Given the description of an element on the screen output the (x, y) to click on. 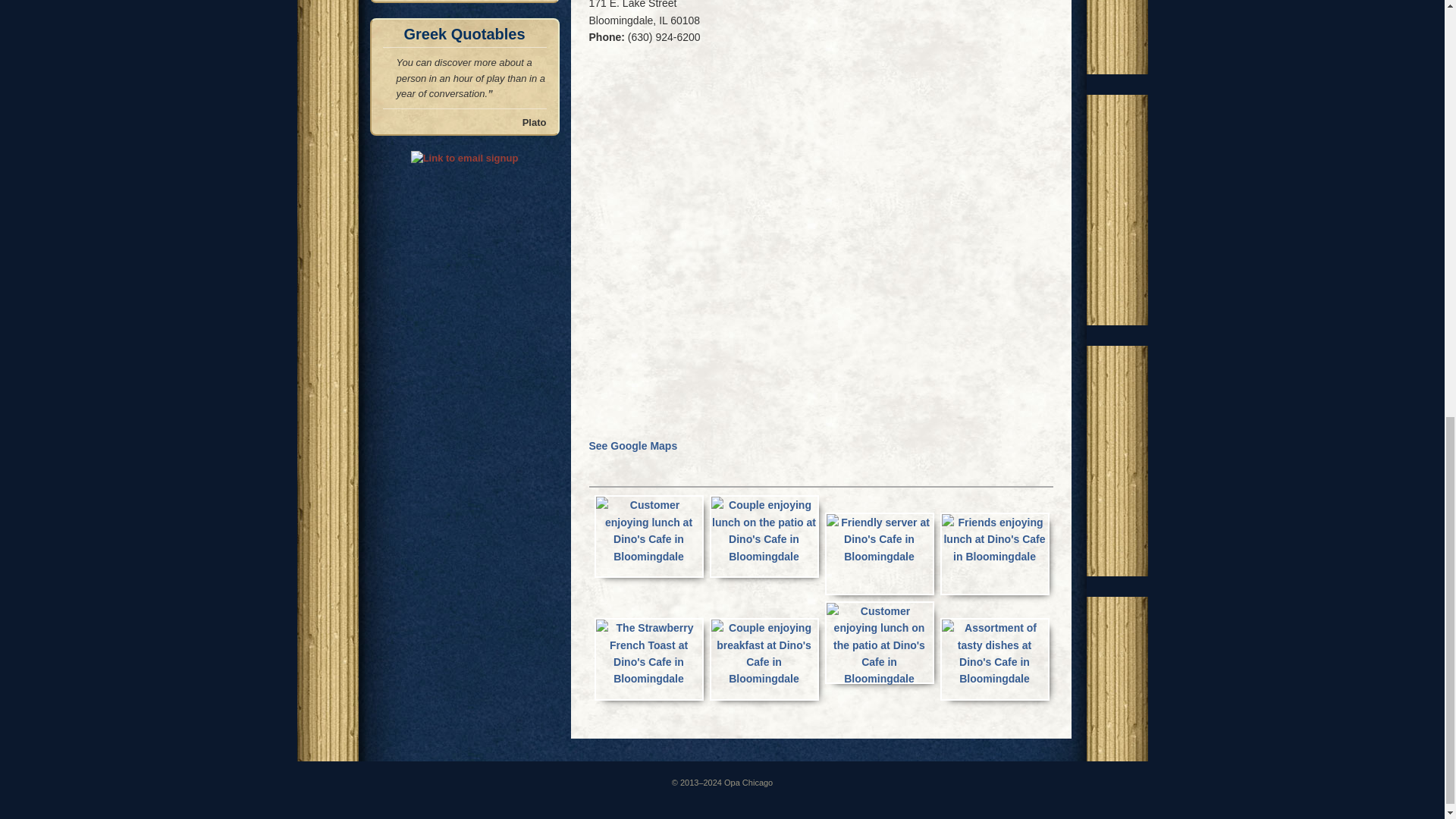
Friendly server at Dino's Cafe in Bloomingdale (879, 553)
Couple enjoying breakfast at Dino's Cafe in Bloomingdale (764, 659)
Customer enjoying lunch at Dino's Cafe in Bloomingdale (648, 536)
Assortment of tasty dishes at Dino's Cafe in Bloomingdale (994, 659)
Assortment of tasty dishes at Dino's Cafe in Bloomingdale (995, 653)
Friends enjoying lunch at Dino's Cafe in Bloomingdale (995, 539)
